Given the description of an element on the screen output the (x, y) to click on. 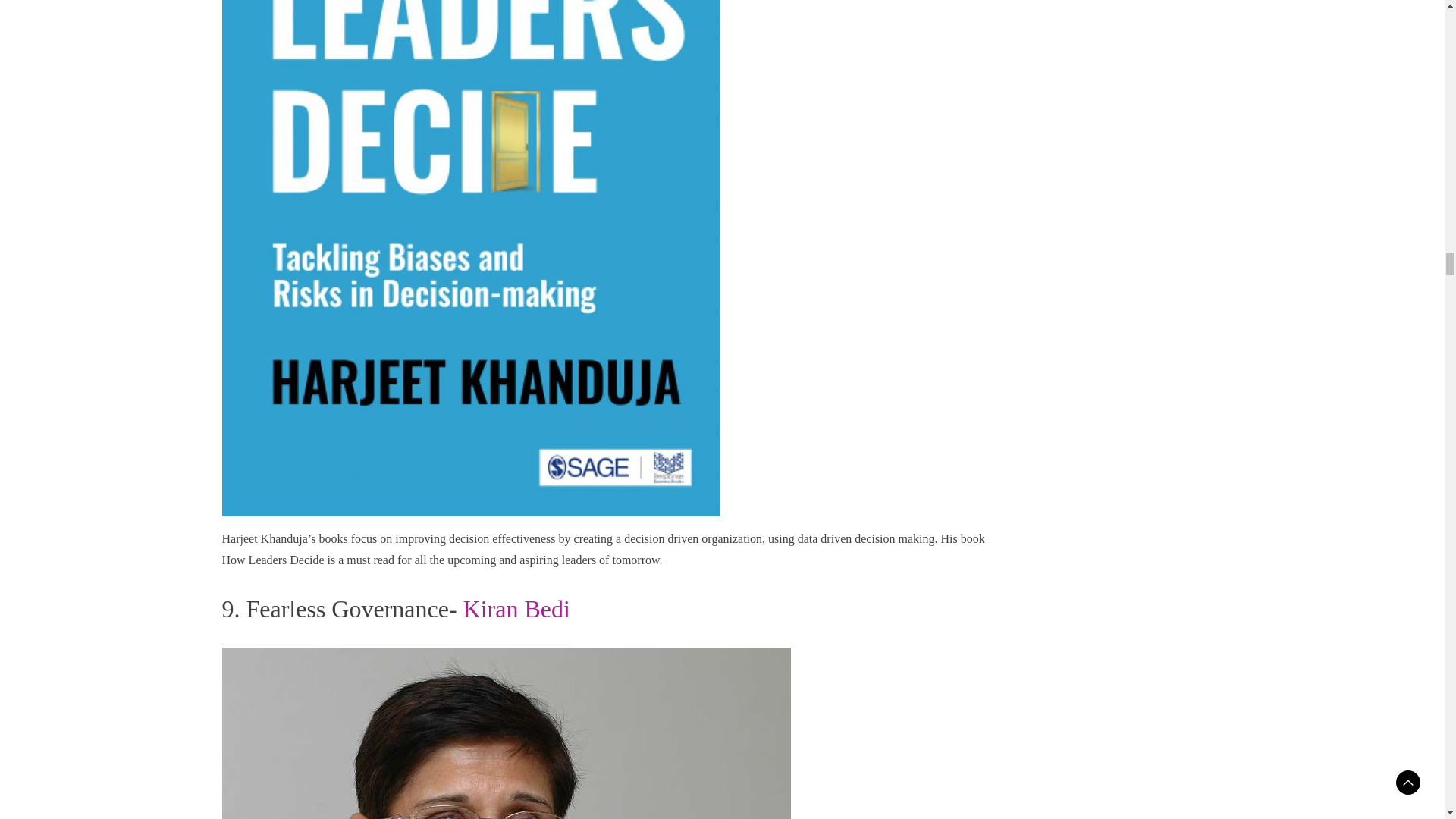
Kiran Bedi (516, 608)
